Given the description of an element on the screen output the (x, y) to click on. 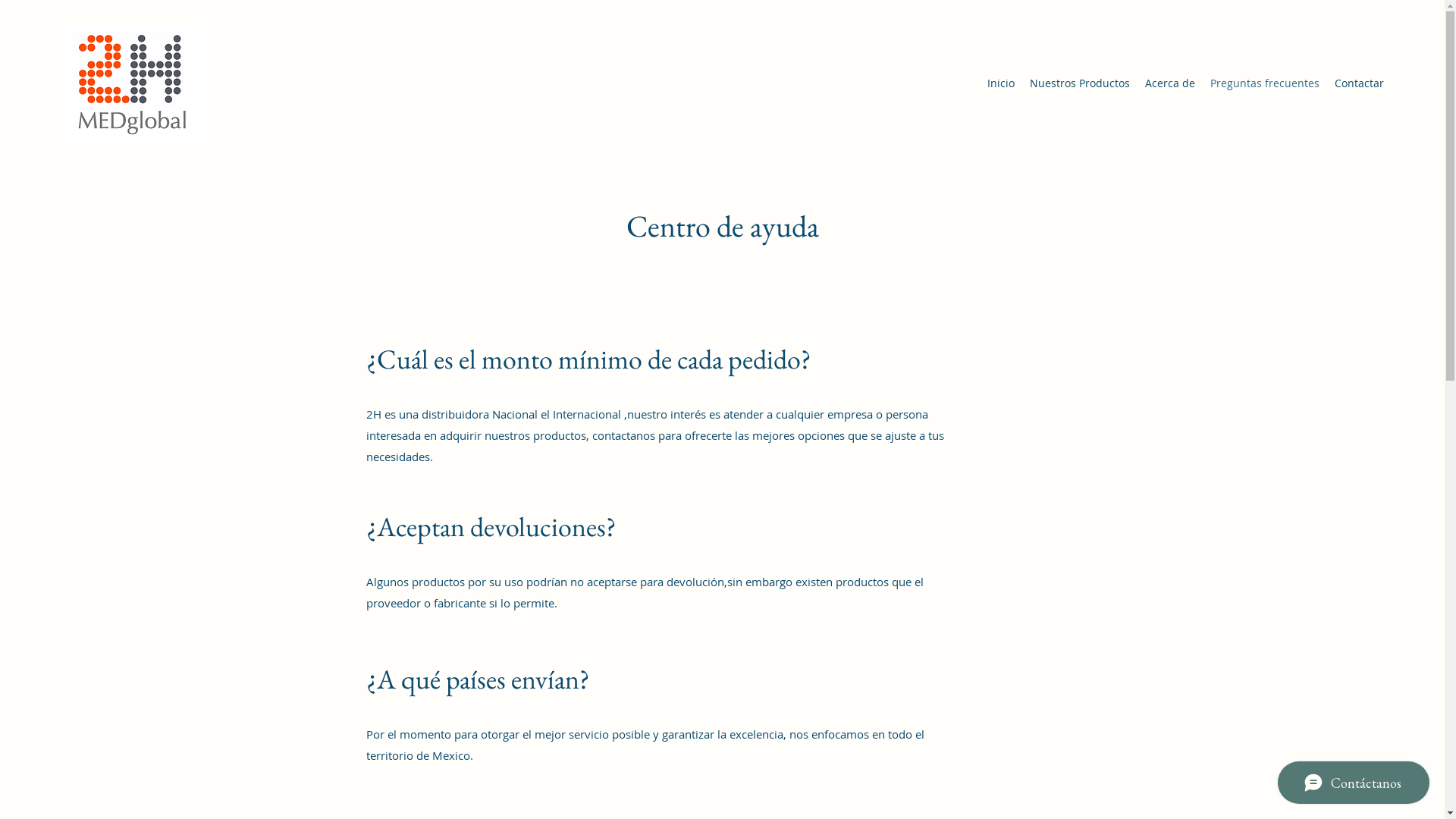
Inicio Element type: text (1000, 83)
Acerca de Element type: text (1169, 83)
Contactar Element type: text (1359, 83)
Preguntas frecuentes Element type: text (1264, 83)
Nuestros Productos Element type: text (1079, 83)
